Given the description of an element on the screen output the (x, y) to click on. 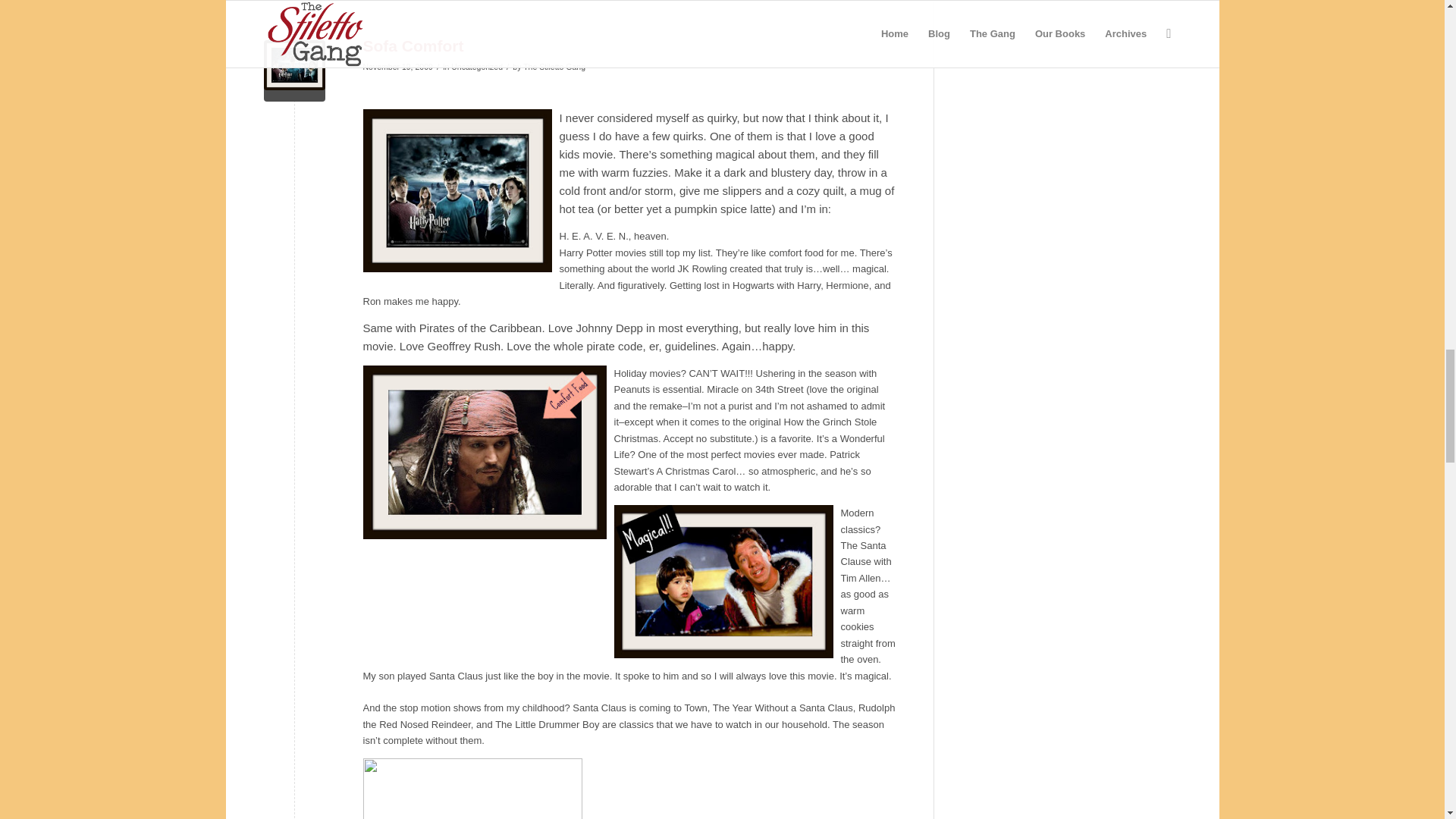
Harry-Potter-the-Order-Phoenix-458.jpeg (293, 70)
Posts by The Stiletto Gang (553, 66)
Permanent Link: Sofa Comfort (412, 45)
